Given the description of an element on the screen output the (x, y) to click on. 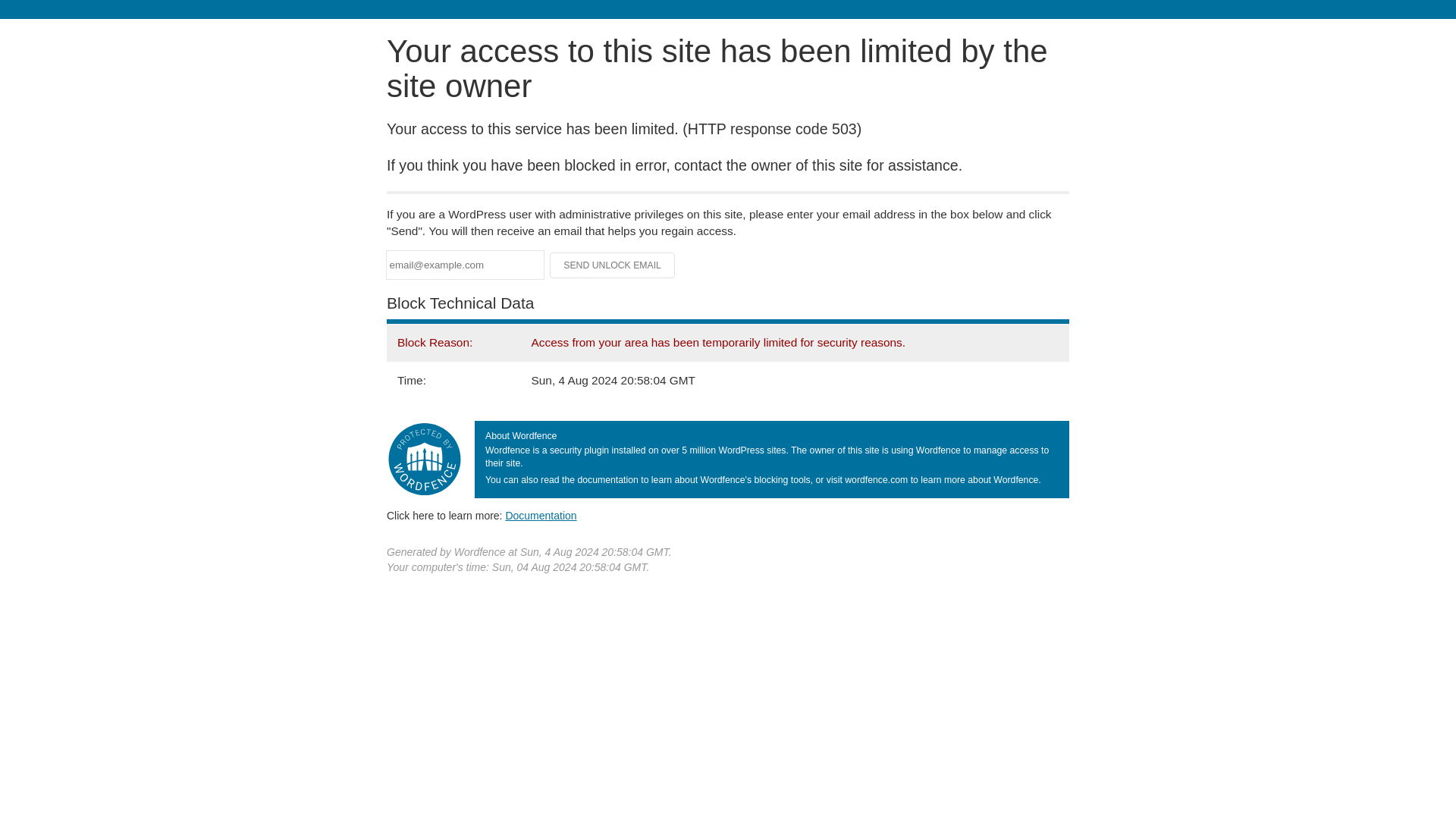
Documentation (540, 515)
Send Unlock Email (612, 265)
Send Unlock Email (612, 265)
